Given the description of an element on the screen output the (x, y) to click on. 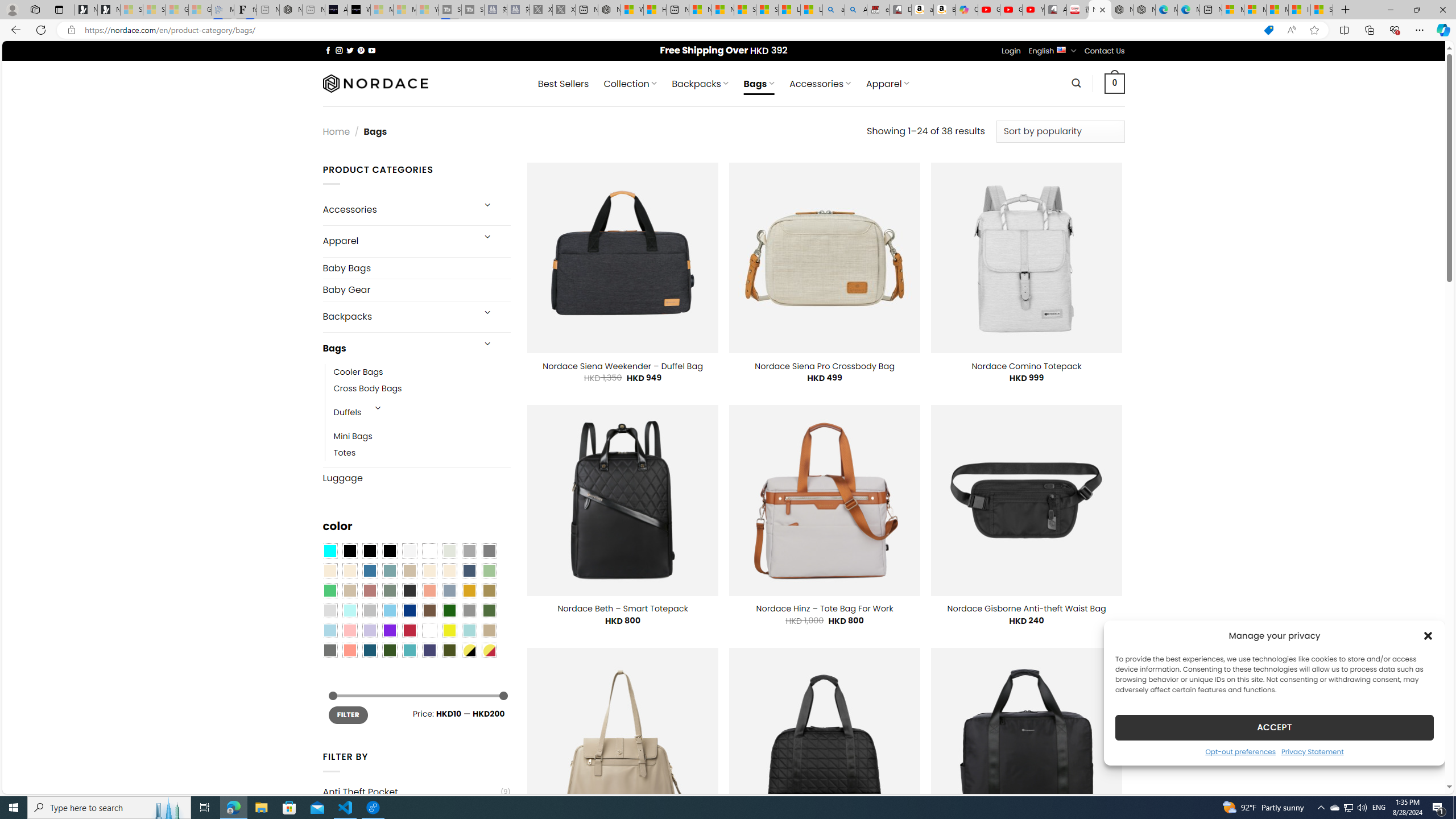
amazon - Search (834, 9)
Nordace - My Account (609, 9)
Rose (369, 590)
Forest (389, 649)
  Best Sellers (563, 83)
Charcoal (408, 590)
Cross Body Bags (422, 388)
Class: cmplz-close (1428, 635)
YouTube Kids - An App Created for Kids to Explore Content (1033, 9)
